Given the description of an element on the screen output the (x, y) to click on. 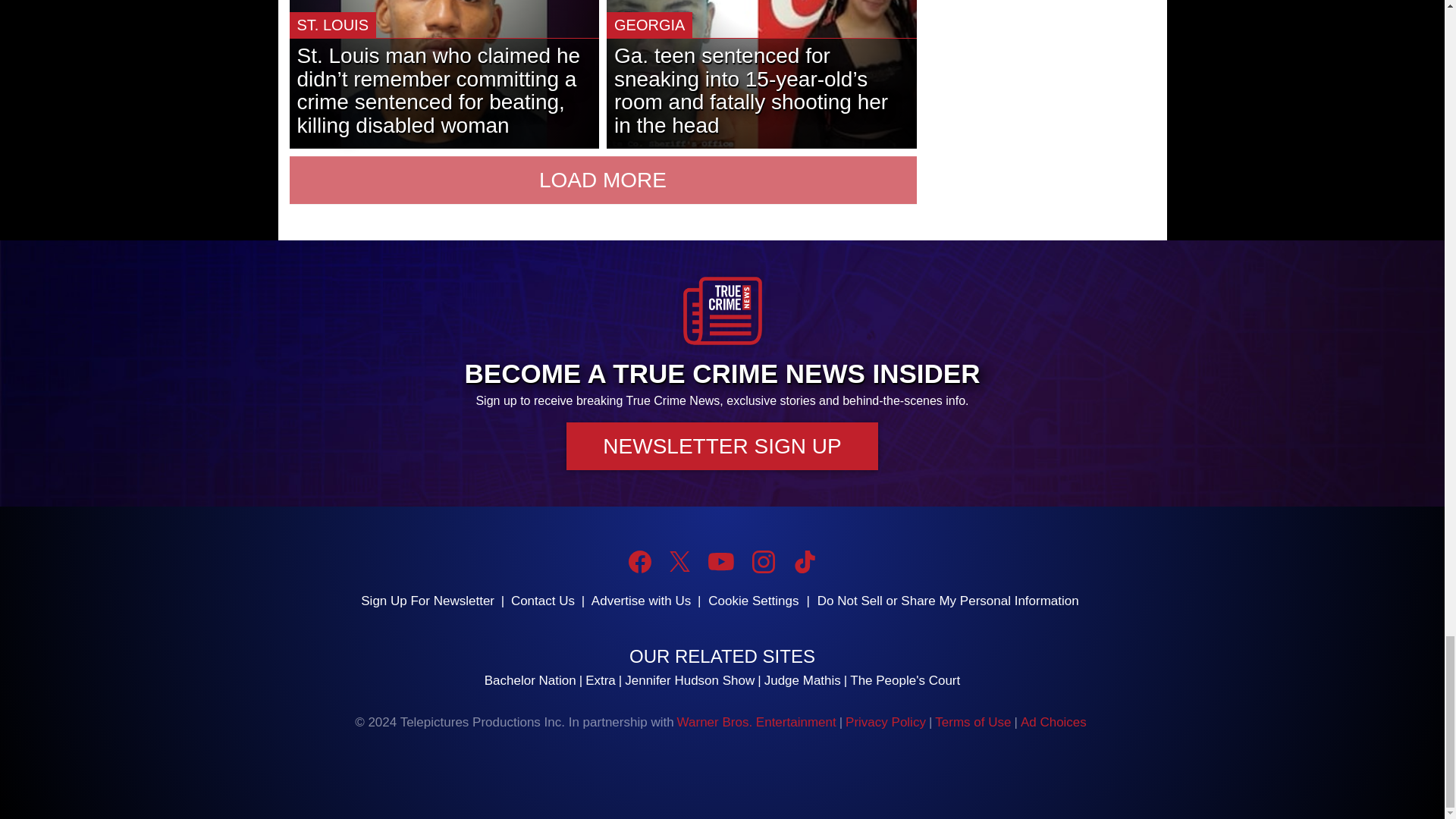
TikTok (804, 561)
YouTube (720, 561)
Instagram (763, 561)
Twitter (679, 561)
Facebook (639, 561)
